Given the description of an element on the screen output the (x, y) to click on. 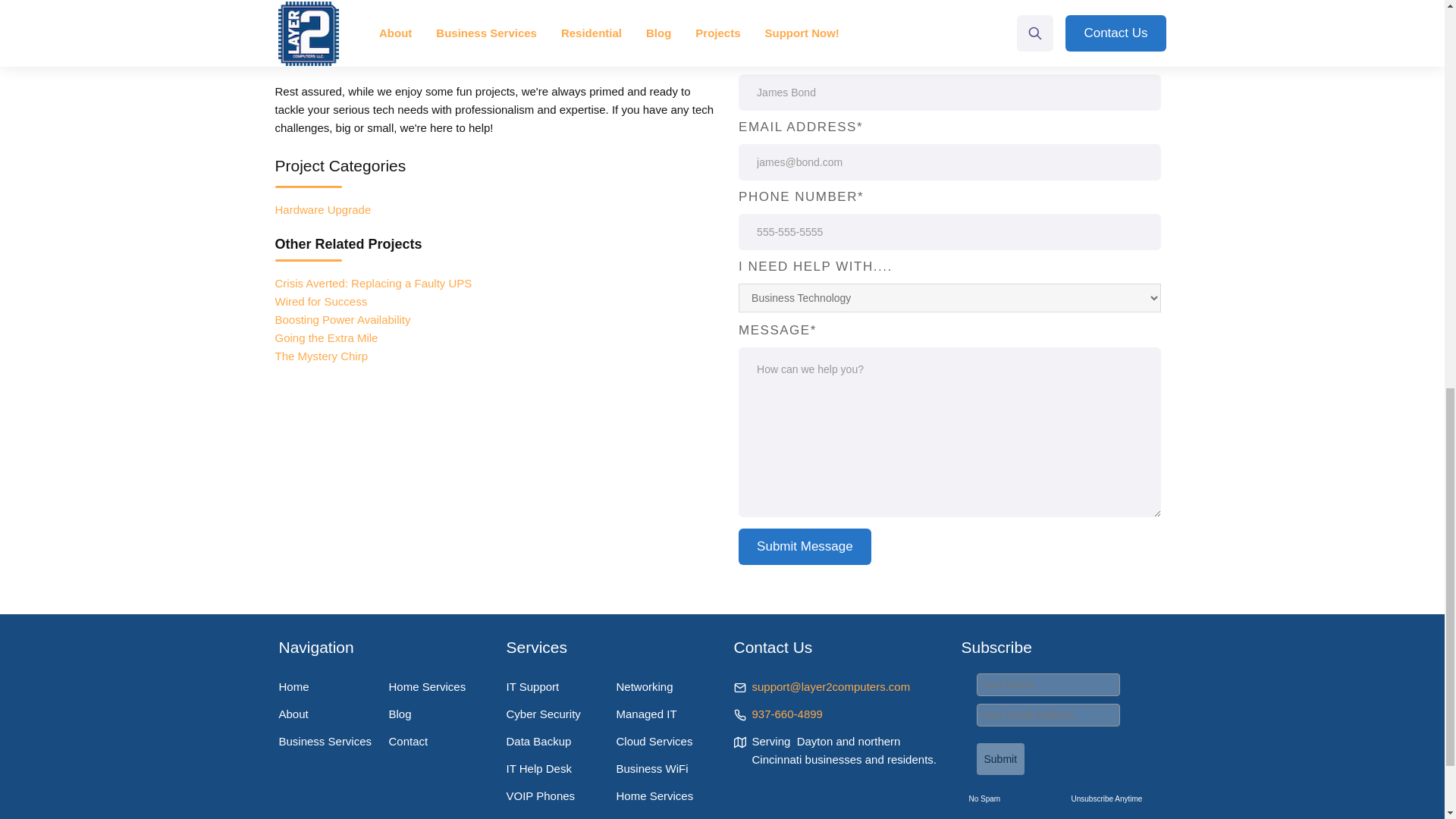
Going the Extra Mile (326, 337)
Wired for Success (320, 300)
Boosting Power Availability (342, 318)
Hardware Upgrade (323, 209)
Submit Message (804, 546)
The Mystery Chirp (321, 355)
Crisis Averted: Replacing a Faulty UPS (373, 282)
